Given the description of an element on the screen output the (x, y) to click on. 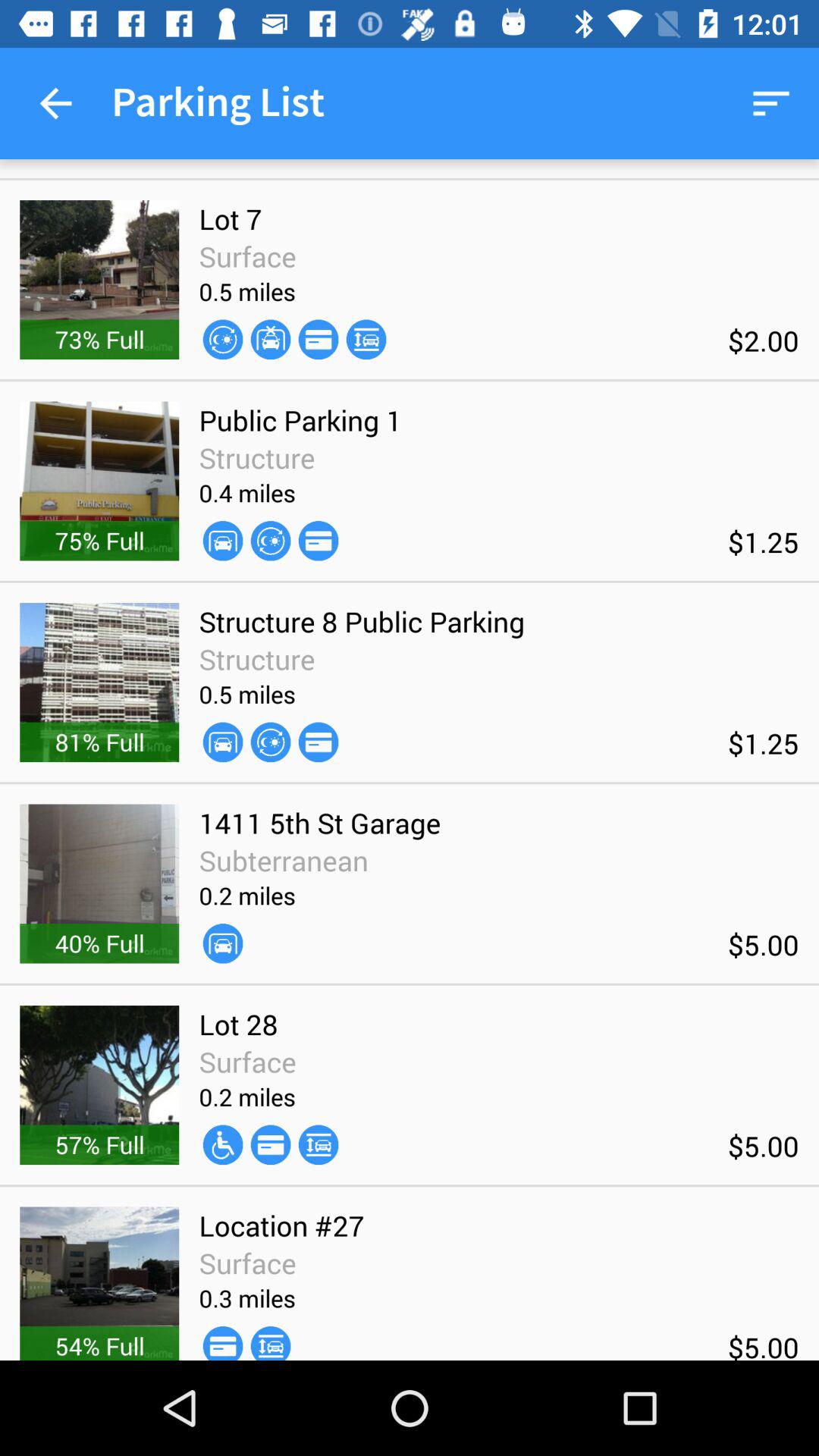
tap the lot 28 icon (238, 1024)
